Given the description of an element on the screen output the (x, y) to click on. 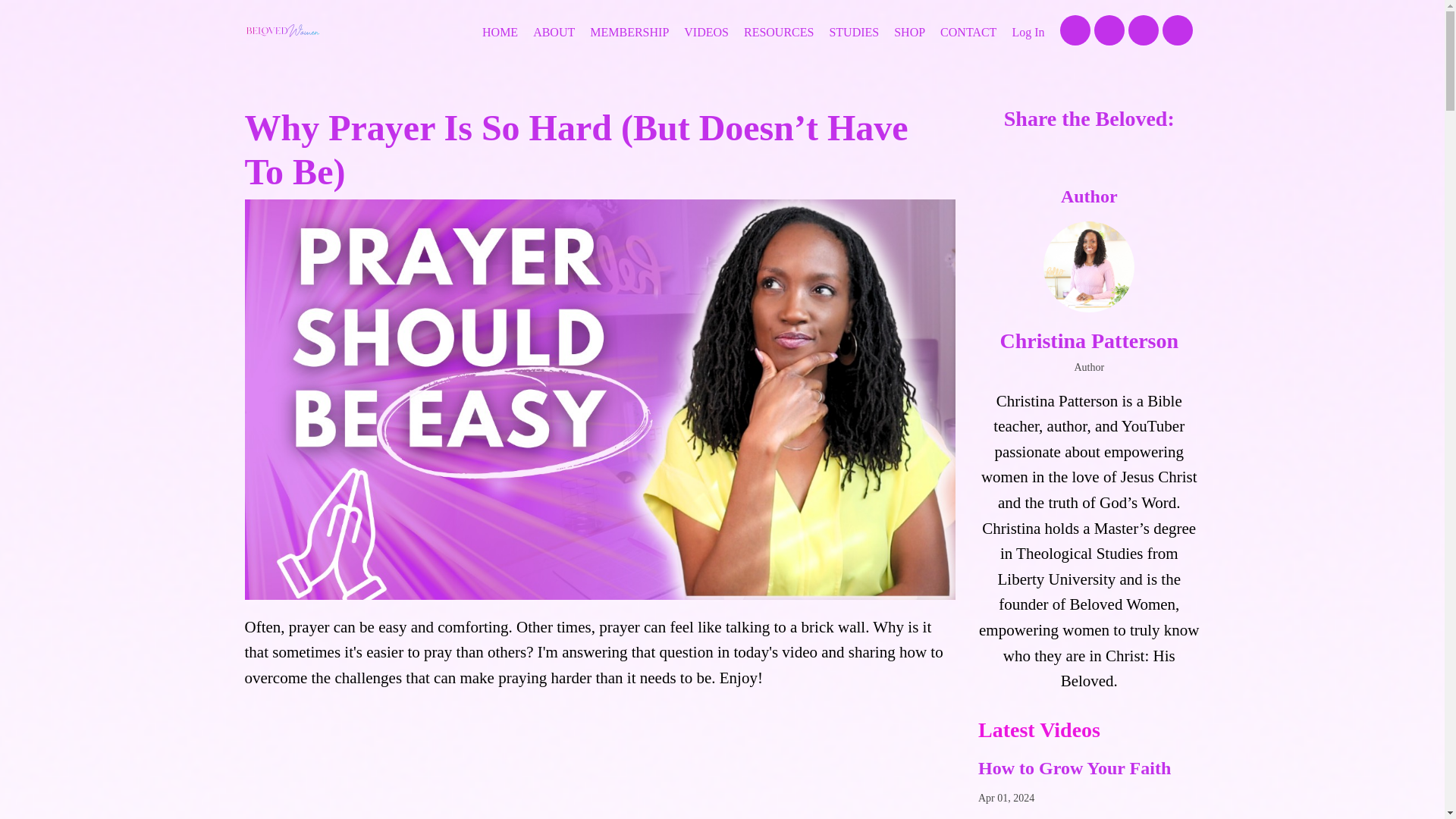
ABOUT (553, 32)
MEMBERSHIP (628, 32)
HOME (499, 32)
Log In (1027, 31)
How to Grow Your Faith (1088, 768)
STUDIES (853, 32)
YouTube video player (599, 760)
SHOP (908, 32)
VIDEOS (706, 32)
RESOURCES (778, 32)
CONTACT (967, 32)
